Given the description of an element on the screen output the (x, y) to click on. 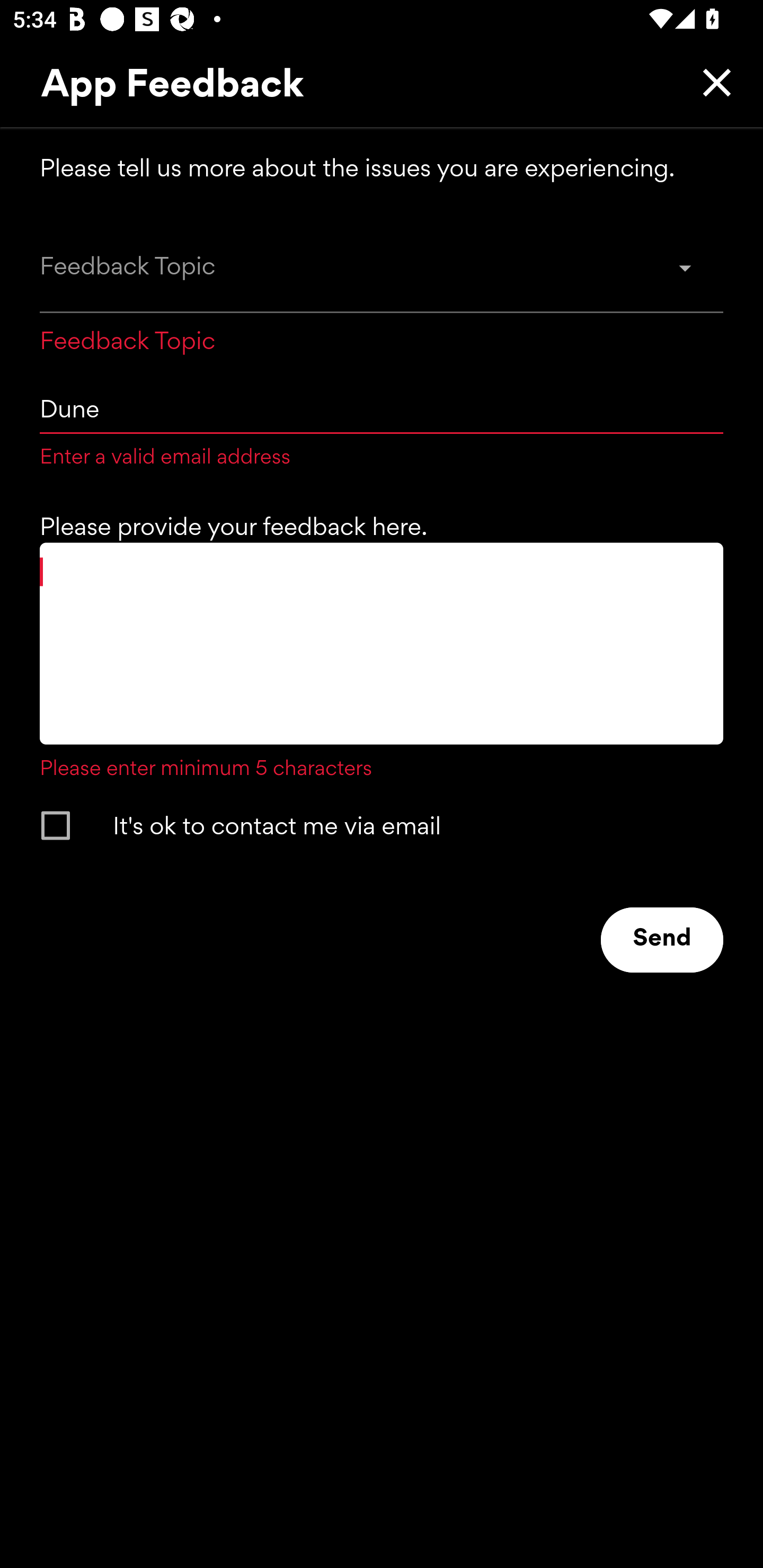
Close (712, 82)
Dune Enter a valid email address (381, 421)
Please enter minimum 5 characters (381, 661)
It's ok to contact me via email (365, 825)
Send (662, 939)
